Given the description of an element on the screen output the (x, y) to click on. 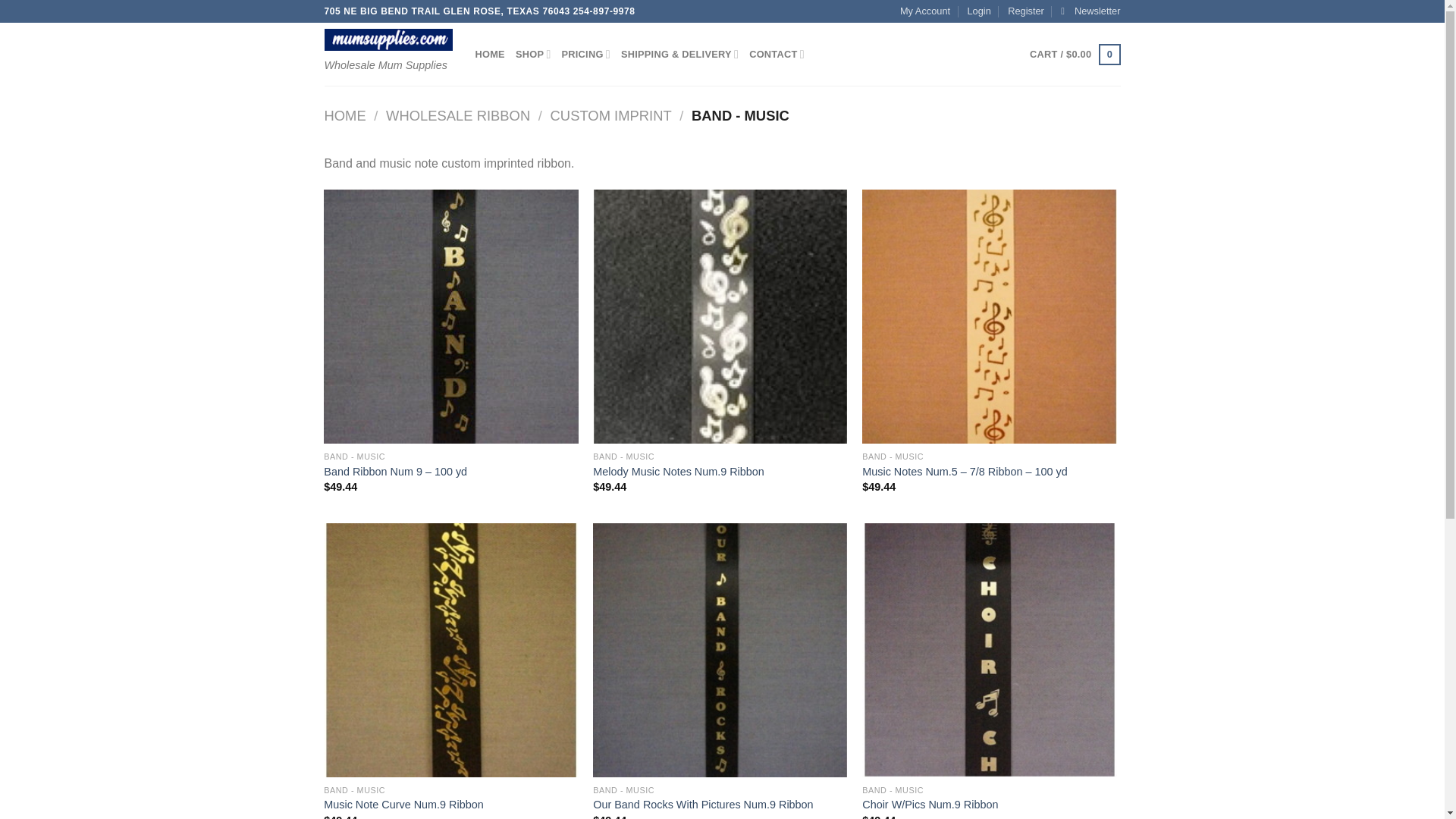
My Account (924, 11)
CUSTOM IMPRINT (610, 115)
CONTACT (777, 54)
Newsletter (1090, 11)
Register (1025, 11)
Cart (1074, 54)
SHOP (533, 54)
Login (978, 11)
HOME (488, 54)
Mum Supplies.com - Wholesale Mum Supplies (388, 39)
PRICING (586, 54)
HOME (345, 115)
Sign up for Newsletter (1090, 11)
Melody Music Notes Num.9 Ribbon (678, 472)
WHOLESALE RIBBON (457, 115)
